Given the description of an element on the screen output the (x, y) to click on. 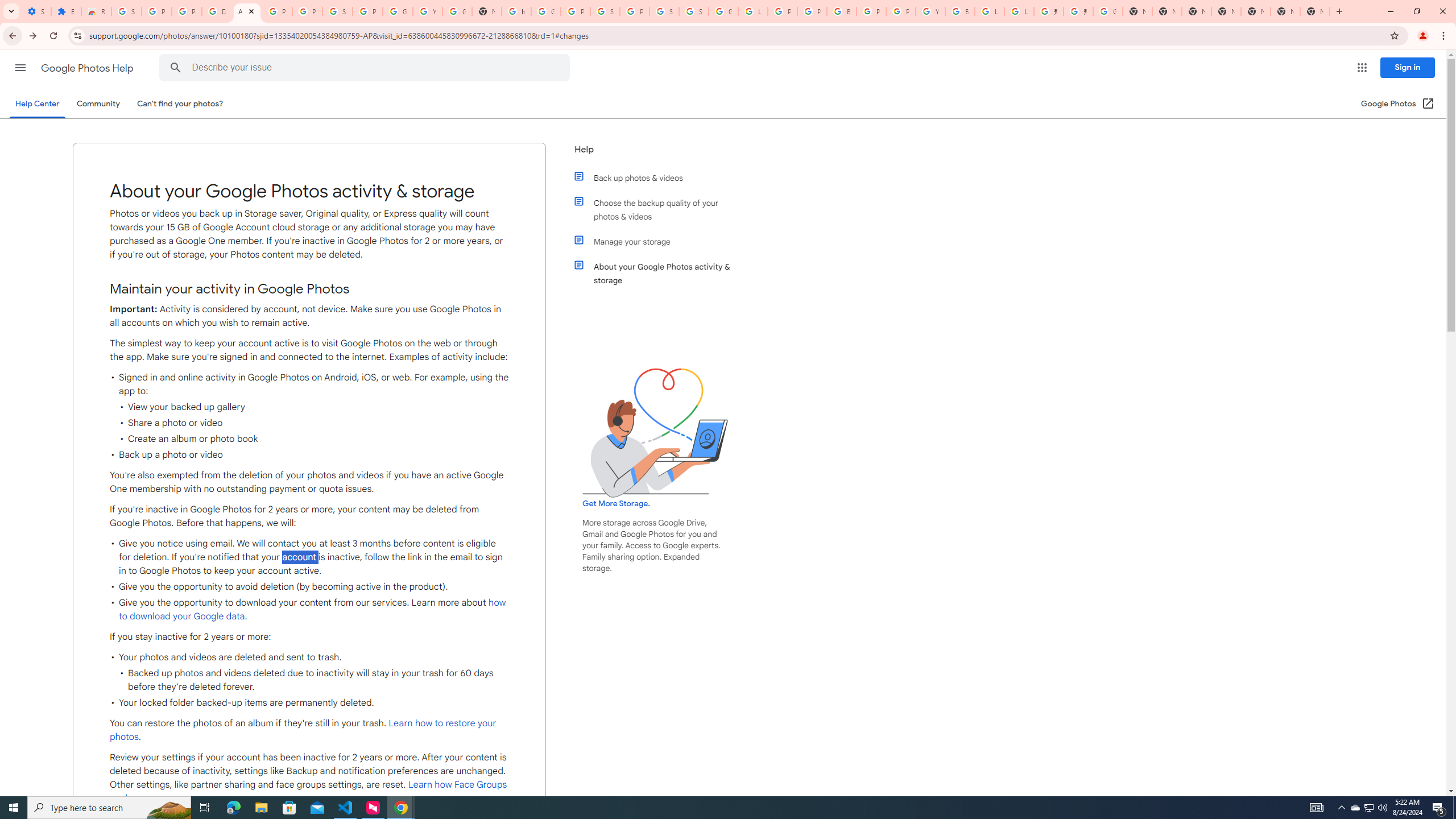
Google Photos (Open in a new window) (1397, 103)
Manage your storage (661, 241)
how to download your Google data (312, 609)
https://scholar.google.com/ (515, 11)
Privacy Help Center - Policies Help (811, 11)
